Given the description of an element on the screen output the (x, y) to click on. 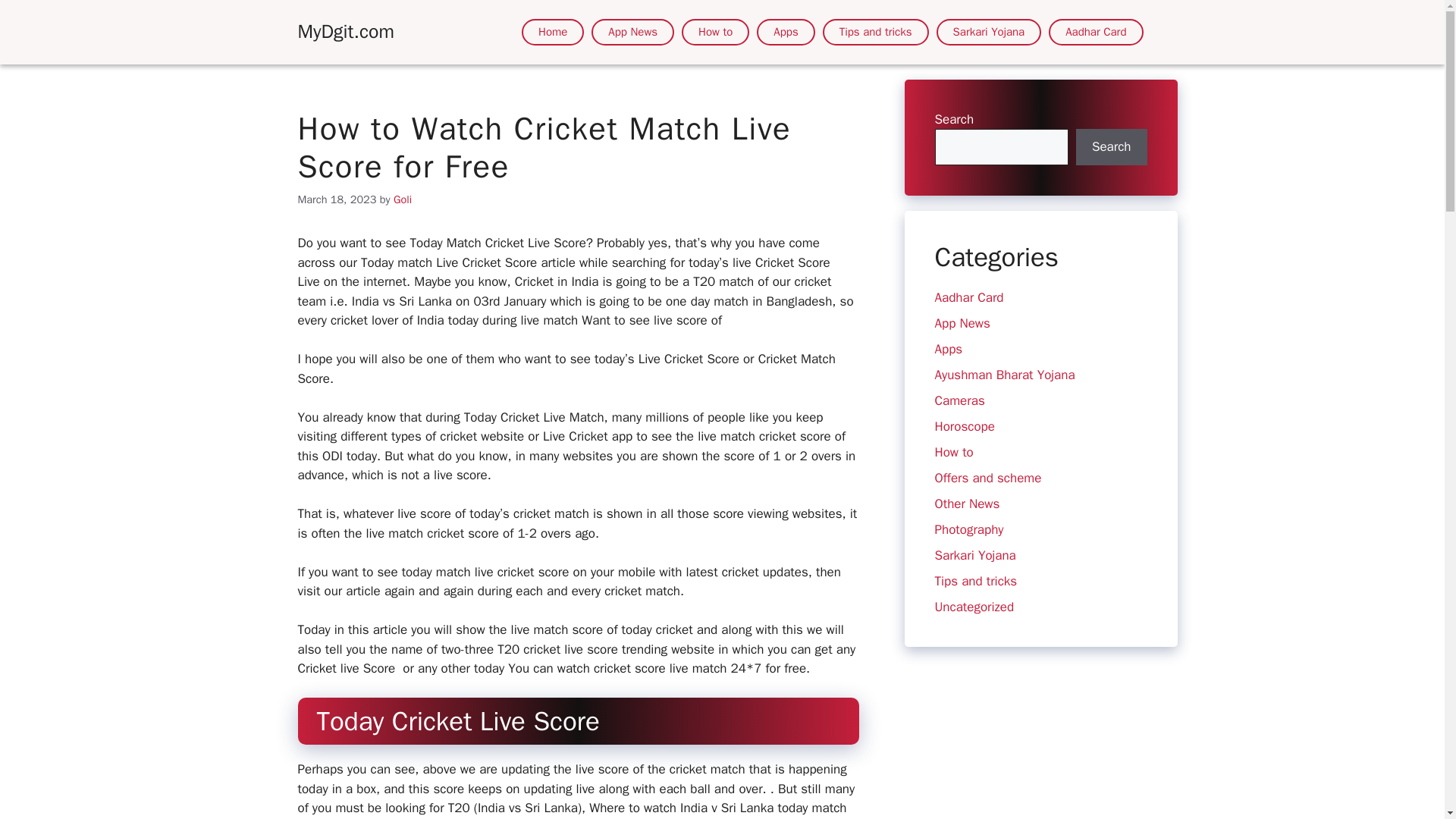
Sarkari Yojana (989, 31)
Cameras (959, 400)
Search (1111, 146)
Ayushman Bharat Yojana (1004, 374)
Home (552, 31)
Photography (968, 529)
View all posts by Goli (402, 199)
Aadhar Card (1095, 31)
App News (962, 323)
Tips and tricks (975, 580)
Other News (966, 503)
Goli (402, 199)
Horoscope (964, 426)
Aadhar Card (968, 297)
MyDgit.com (345, 31)
